Given the description of an element on the screen output the (x, y) to click on. 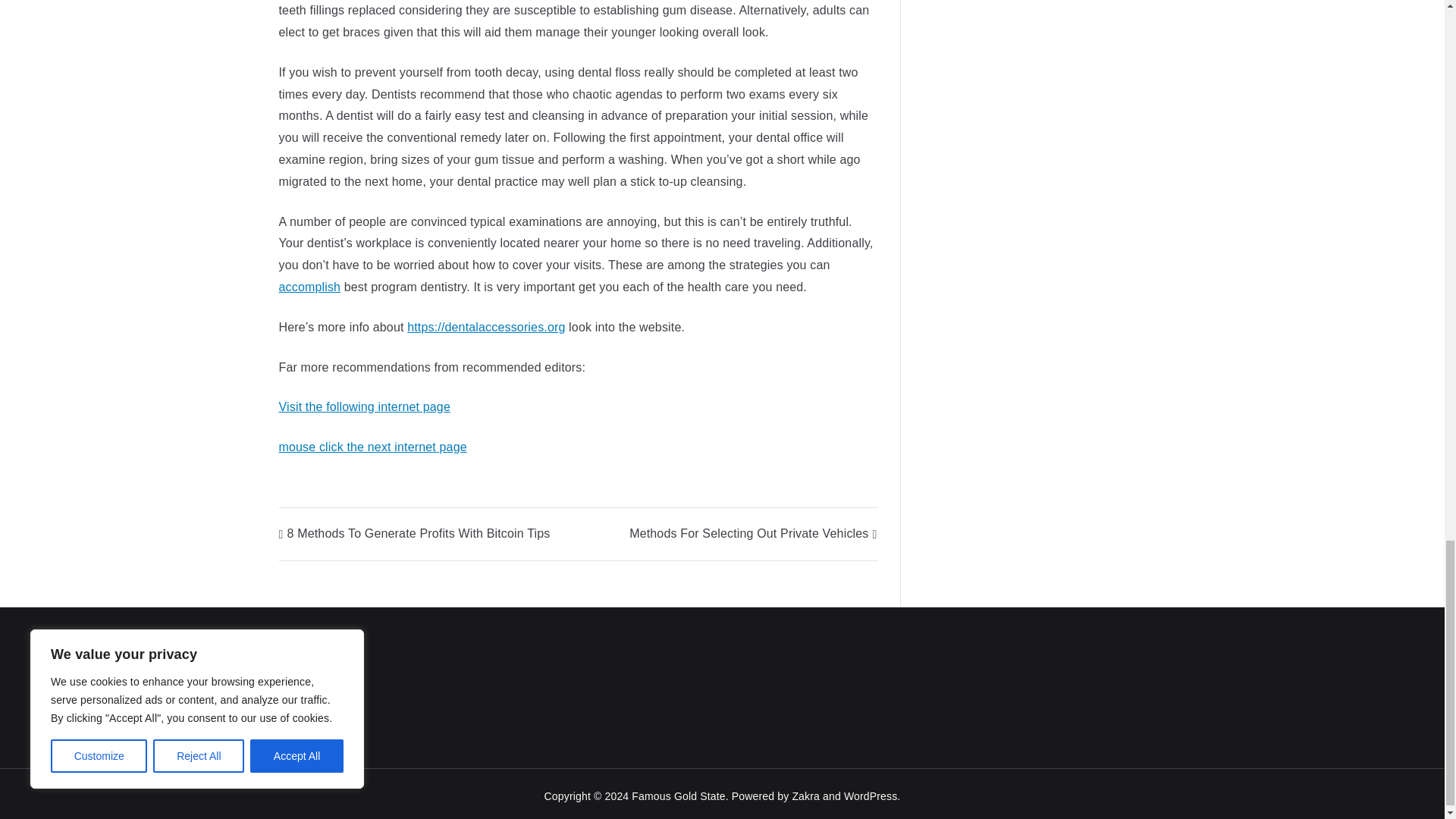
8 Methods To Generate Profits With Bitcoin Tips (414, 533)
accomplish (309, 286)
Famous Gold State (678, 796)
Visit the following internet page (364, 406)
mouse click the next internet page (373, 446)
Methods For Selecting Out Private Vehicles (752, 533)
WordPress (870, 796)
Zakra (805, 796)
